Given the description of an element on the screen output the (x, y) to click on. 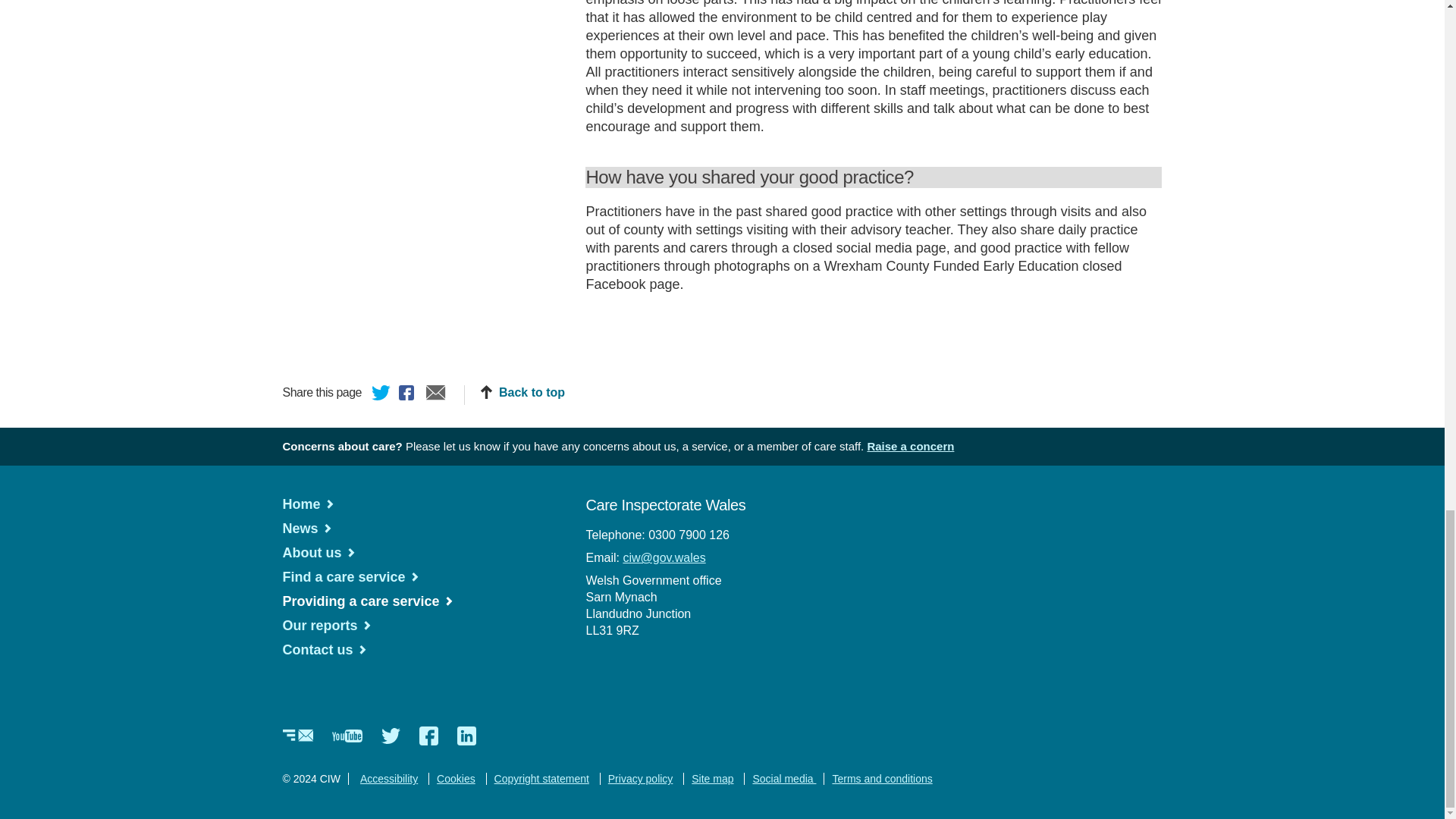
Home (307, 503)
Raising a concern about care services  (909, 445)
Twitter (381, 394)
Email (435, 394)
Facebook (408, 394)
Raise a concern (909, 445)
Back to top (522, 392)
